Given the description of an element on the screen output the (x, y) to click on. 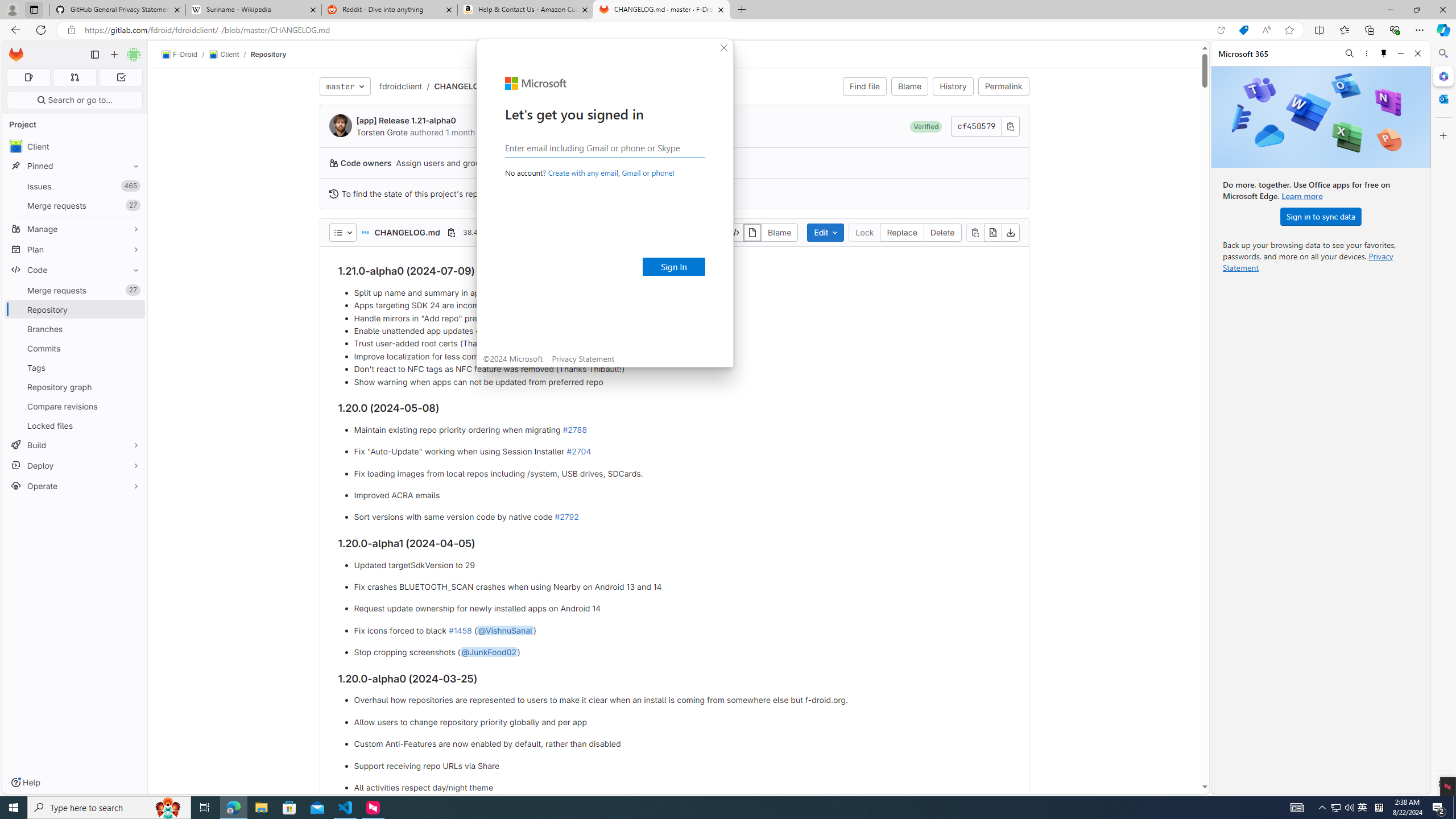
Class: s16 gl-mr-1 gl-align-text-bottom (333, 193)
Commits (74, 348)
Client (223, 54)
Notification Chevron (1322, 807)
Stop cropping screenshots (@JunkFood02) (681, 652)
Branches (74, 328)
Microsoft Icon (535, 83)
Build (74, 444)
Locked files (74, 425)
F-Droid (179, 54)
Operate (74, 485)
Task View (204, 807)
Open raw (991, 232)
Pin Repository (132, 309)
Pin Branches (132, 328)
